Given the description of an element on the screen output the (x, y) to click on. 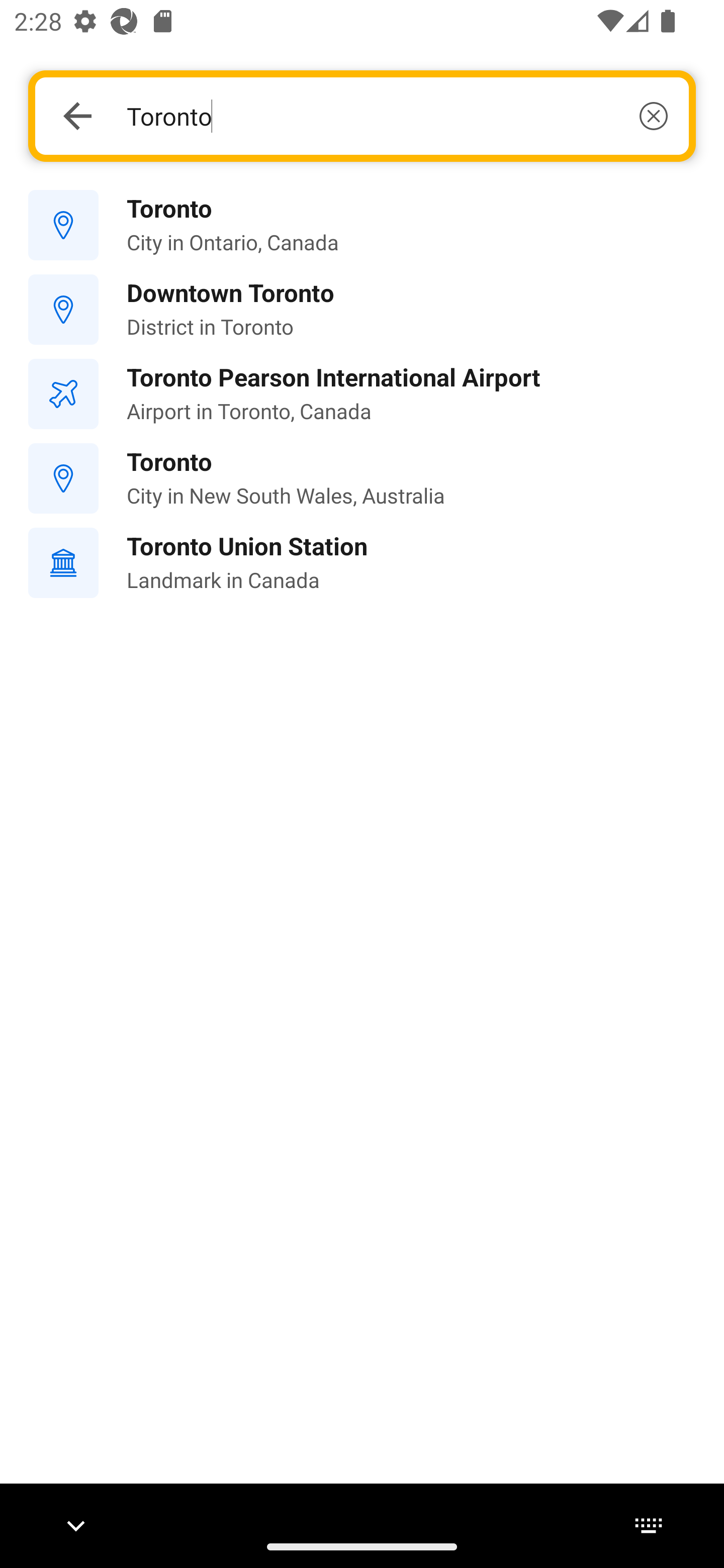
Toronto (396, 115)
Toronto City in Ontario, Canada (362, 225)
Downtown Toronto District in Toronto (362, 309)
Toronto City in New South Wales, Australia (362, 477)
Toronto Union Station Landmark in Canada (362, 562)
